Given the description of an element on the screen output the (x, y) to click on. 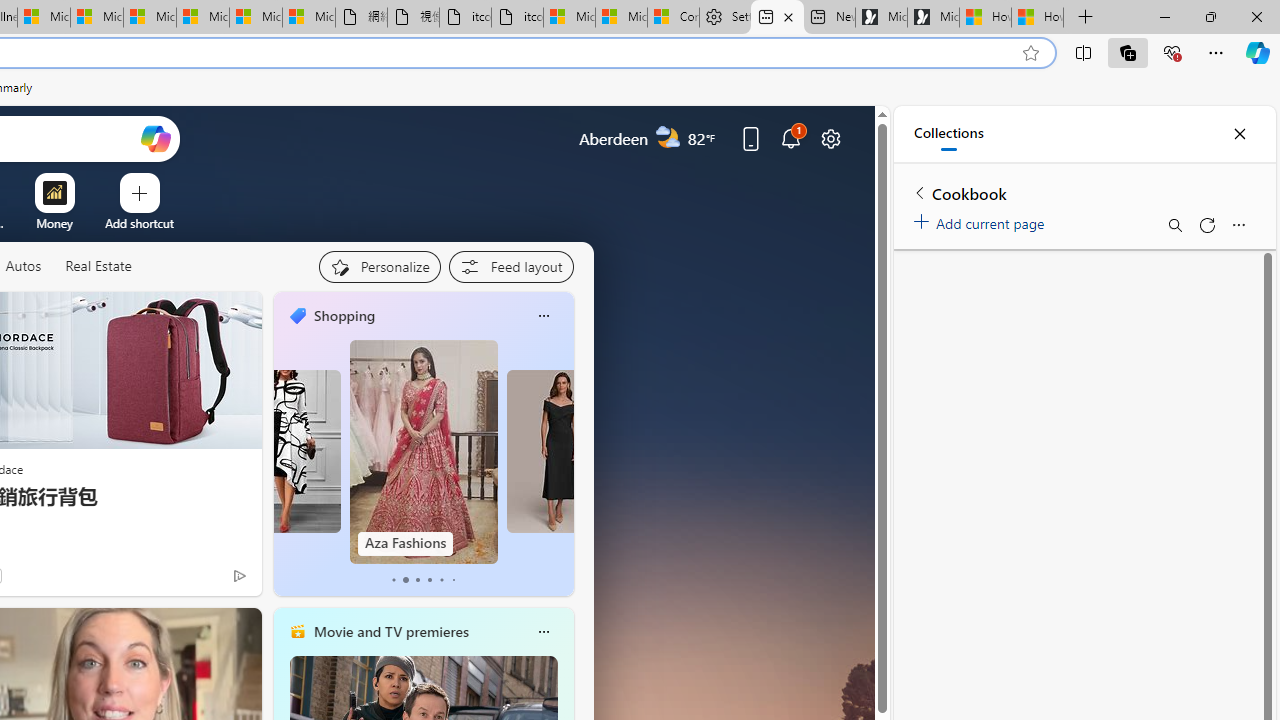
Page settings (831, 138)
Back to list of collections (920, 192)
Partly cloudy (667, 137)
tab-4 (441, 579)
